Given the description of an element on the screen output the (x, y) to click on. 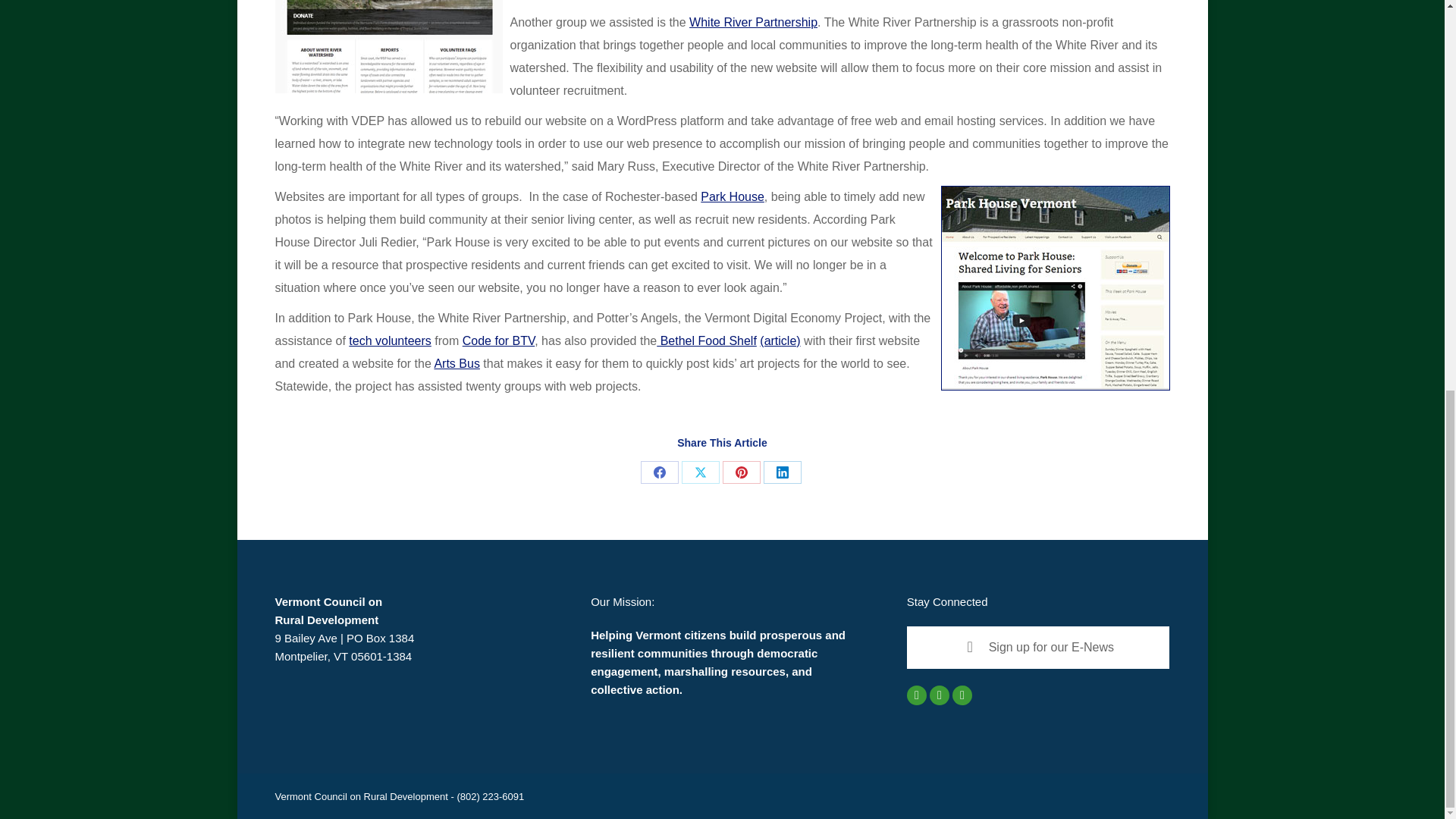
LinkedIn (781, 472)
Sign up for email communications from VCRD (1038, 647)
Pinterest (741, 472)
Facebook (659, 472)
X (700, 472)
